Given the description of an element on the screen output the (x, y) to click on. 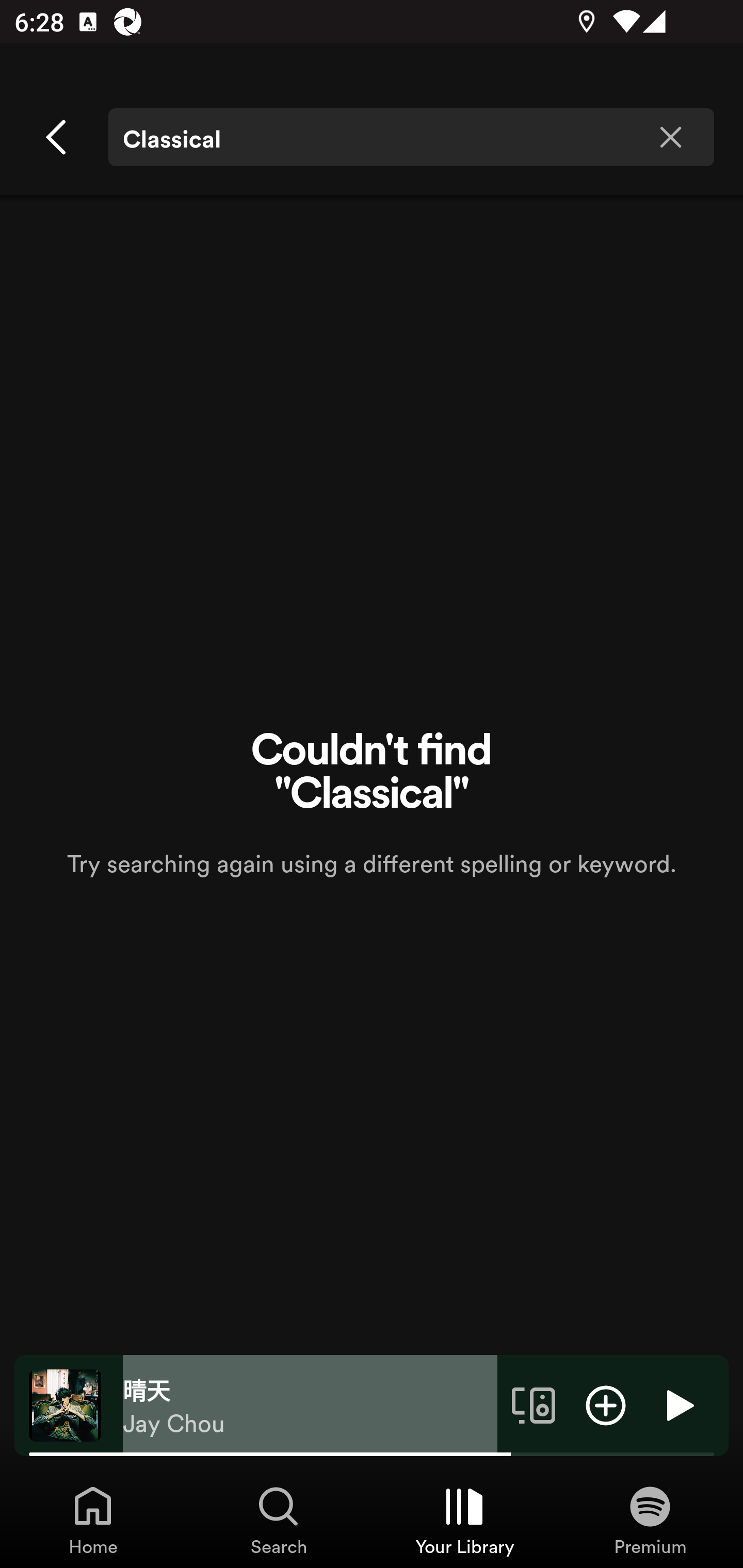
Cancel (57, 137)
Classical (411, 137)
Clear (670, 137)
晴天 Jay Chou (309, 1405)
The cover art of the currently playing track (64, 1404)
Connect to a device. Opens the devices menu (533, 1404)
Add item (605, 1404)
Play (677, 1404)
Home, Tab 1 of 4 Home Home (92, 1519)
Search, Tab 2 of 4 Search Search (278, 1519)
Your Library, Tab 3 of 4 Your Library Your Library (464, 1519)
Premium, Tab 4 of 4 Premium Premium (650, 1519)
